Given the description of an element on the screen output the (x, y) to click on. 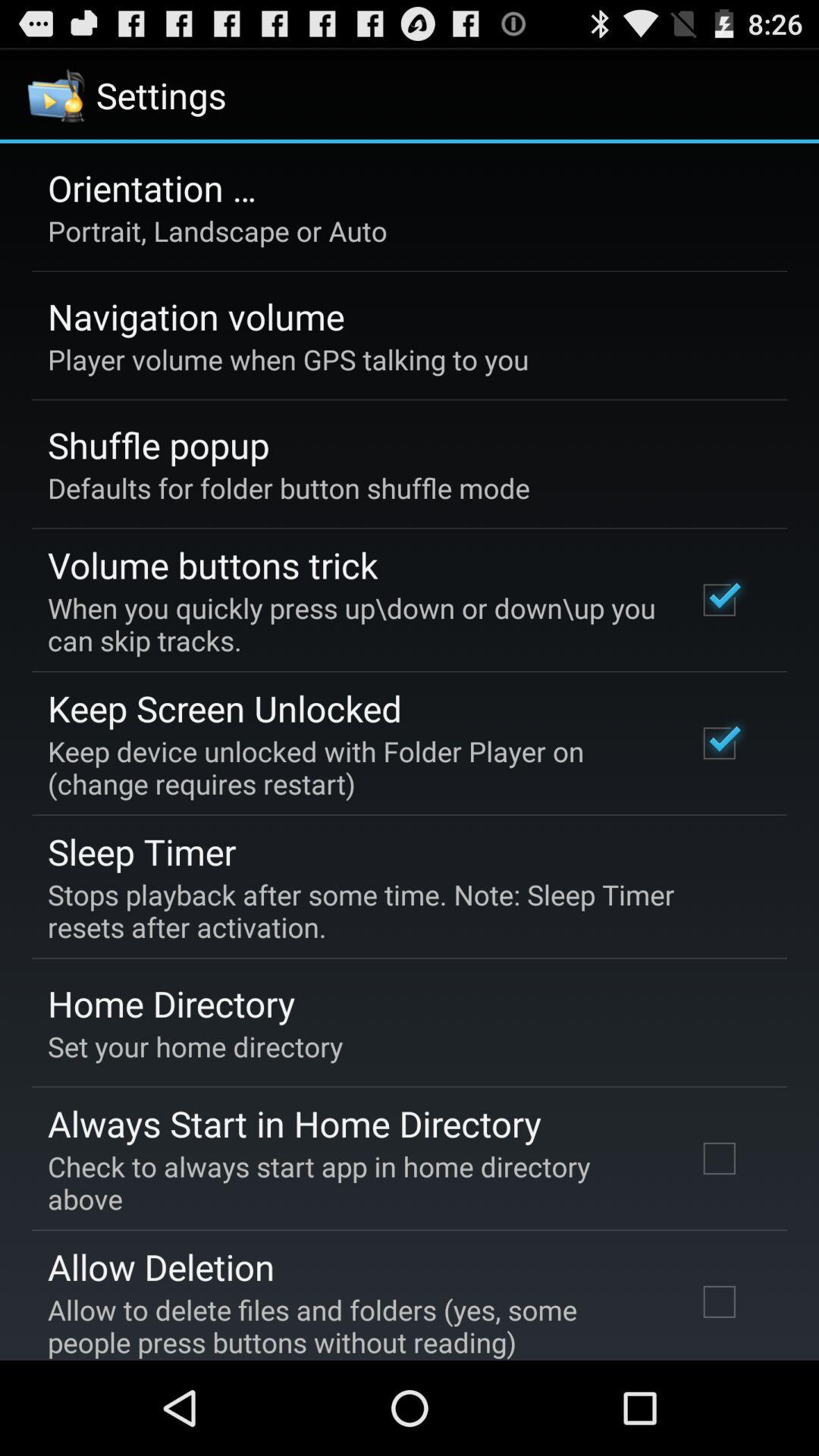
tap the app above the player volume when (195, 316)
